Given the description of an element on the screen output the (x, y) to click on. 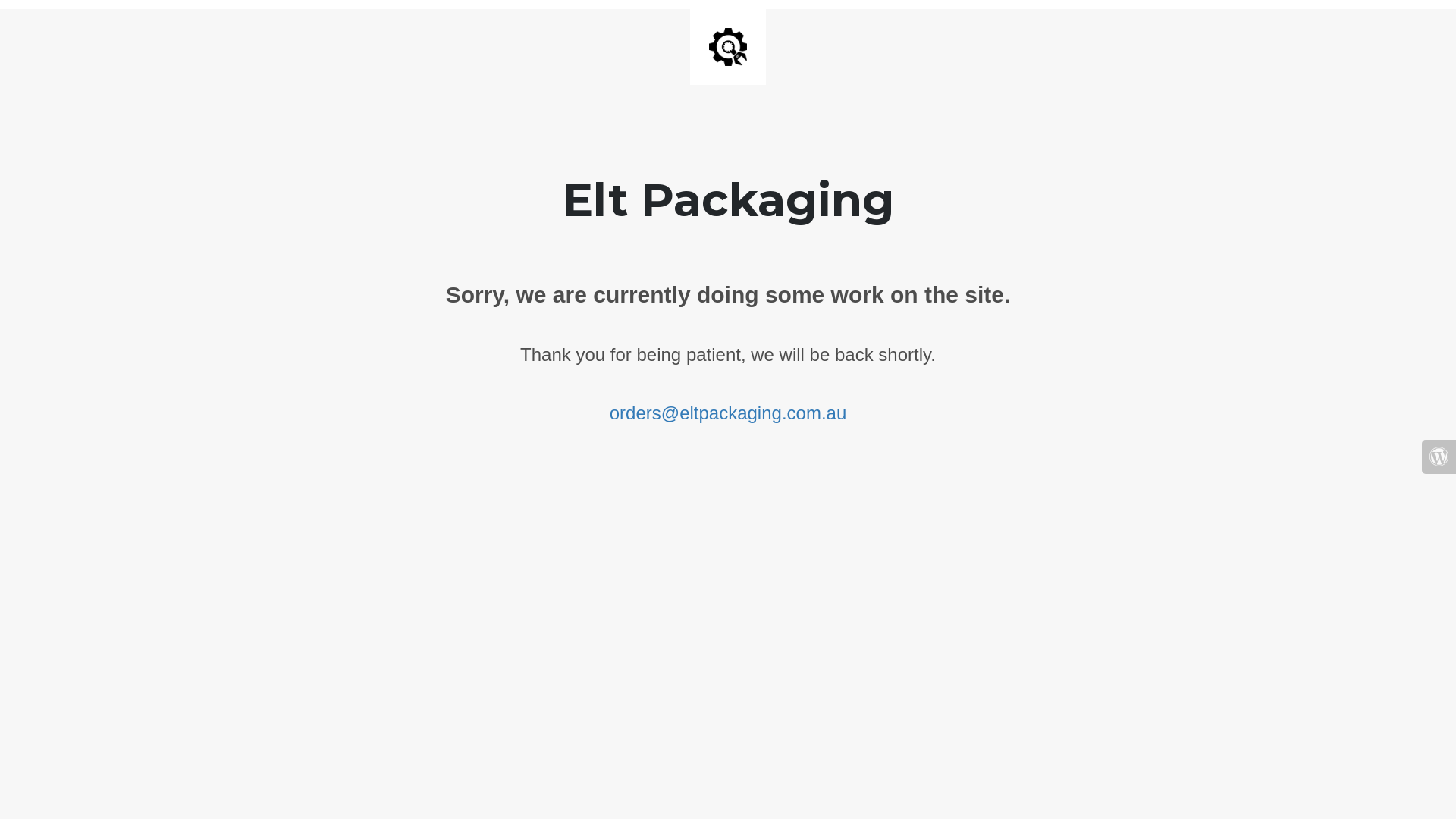
orders@eltpackaging.com.au Element type: text (728, 412)
Site is Under Construction Element type: hover (727, 46)
